Given the description of an element on the screen output the (x, y) to click on. 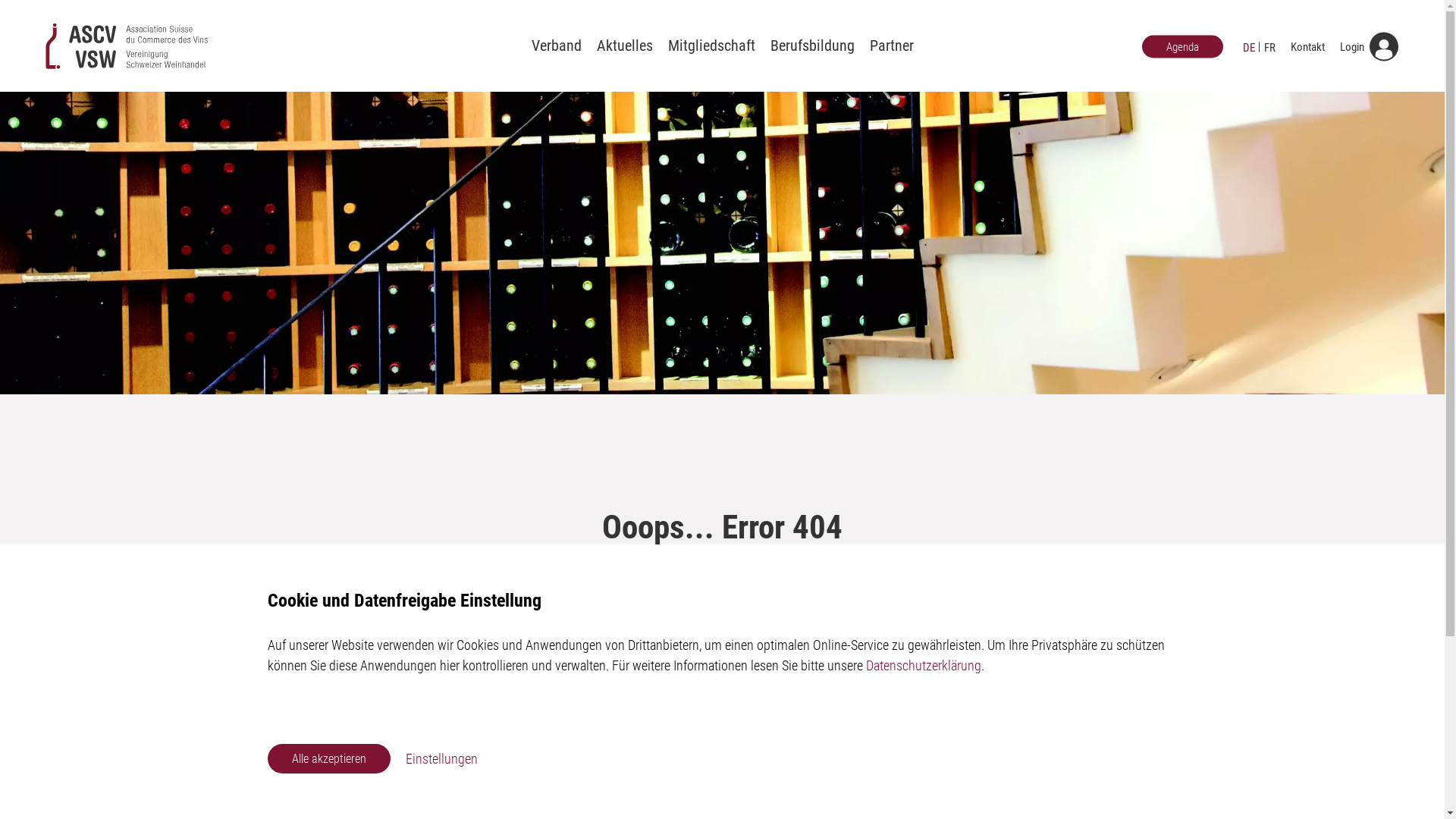
Berufsbildung Element type: text (812, 45)
Kontakt Element type: text (1307, 46)
Inhalt suchen Element type: text (648, 680)
Partner Element type: text (890, 45)
Marsala cellar 1 Element type: hover (722, 242)
Login Element type: text (1365, 46)
FR Element type: text (1269, 46)
Aktuelles Element type: text (623, 45)
Verband Element type: text (555, 45)
Zur Startseite Element type: text (780, 680)
Mitgliedschaft Element type: text (710, 45)
Agenda Element type: text (1182, 45)
Einstellungen Element type: text (440, 758)
Alle akzeptieren Element type: text (327, 758)
